Given the description of an element on the screen output the (x, y) to click on. 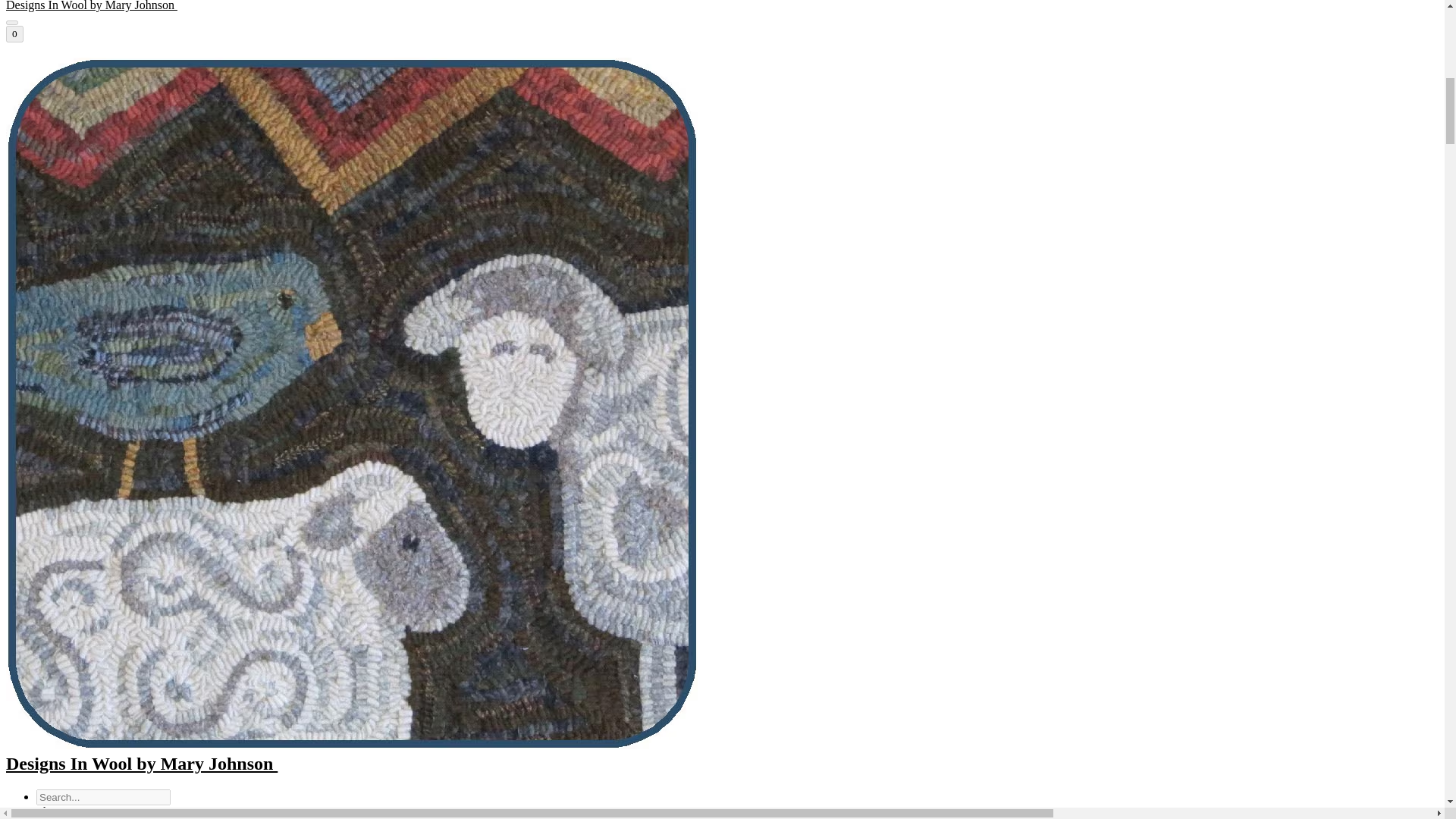
Shop (48, 811)
0 (14, 33)
